Given the description of an element on the screen output the (x, y) to click on. 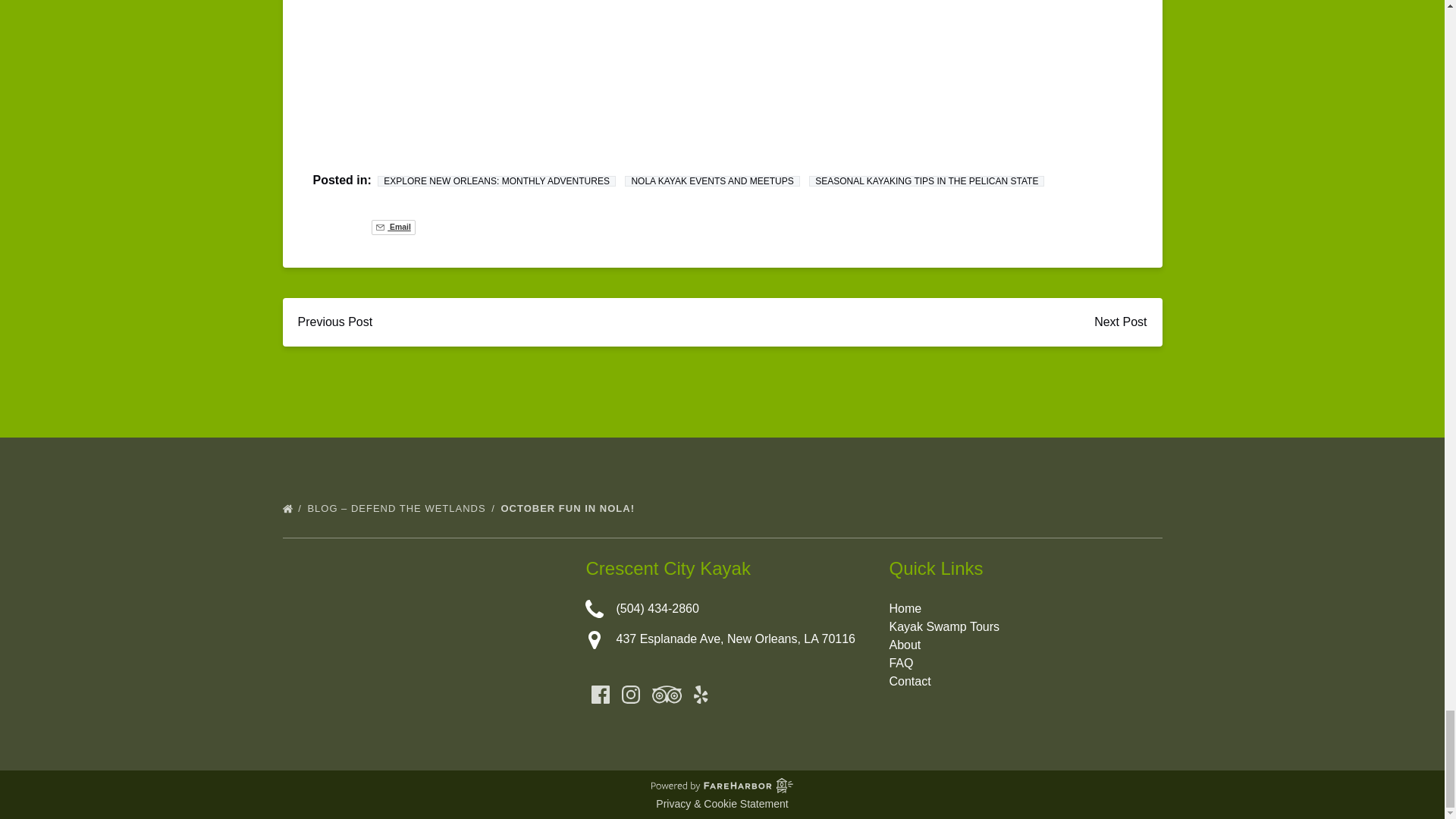
NOLA KAYAK EVENTS AND MEETUPS (711, 181)
Email (392, 227)
Next Post (1119, 322)
Previous Post (334, 322)
Phone (594, 608)
SEASONAL KAYAKING TIPS IN THE PELICAN STATE (926, 181)
Map Marker (594, 639)
EXPLORE NEW ORLEANS: MONTHLY ADVENTURES (496, 181)
